Given the description of an element on the screen output the (x, y) to click on. 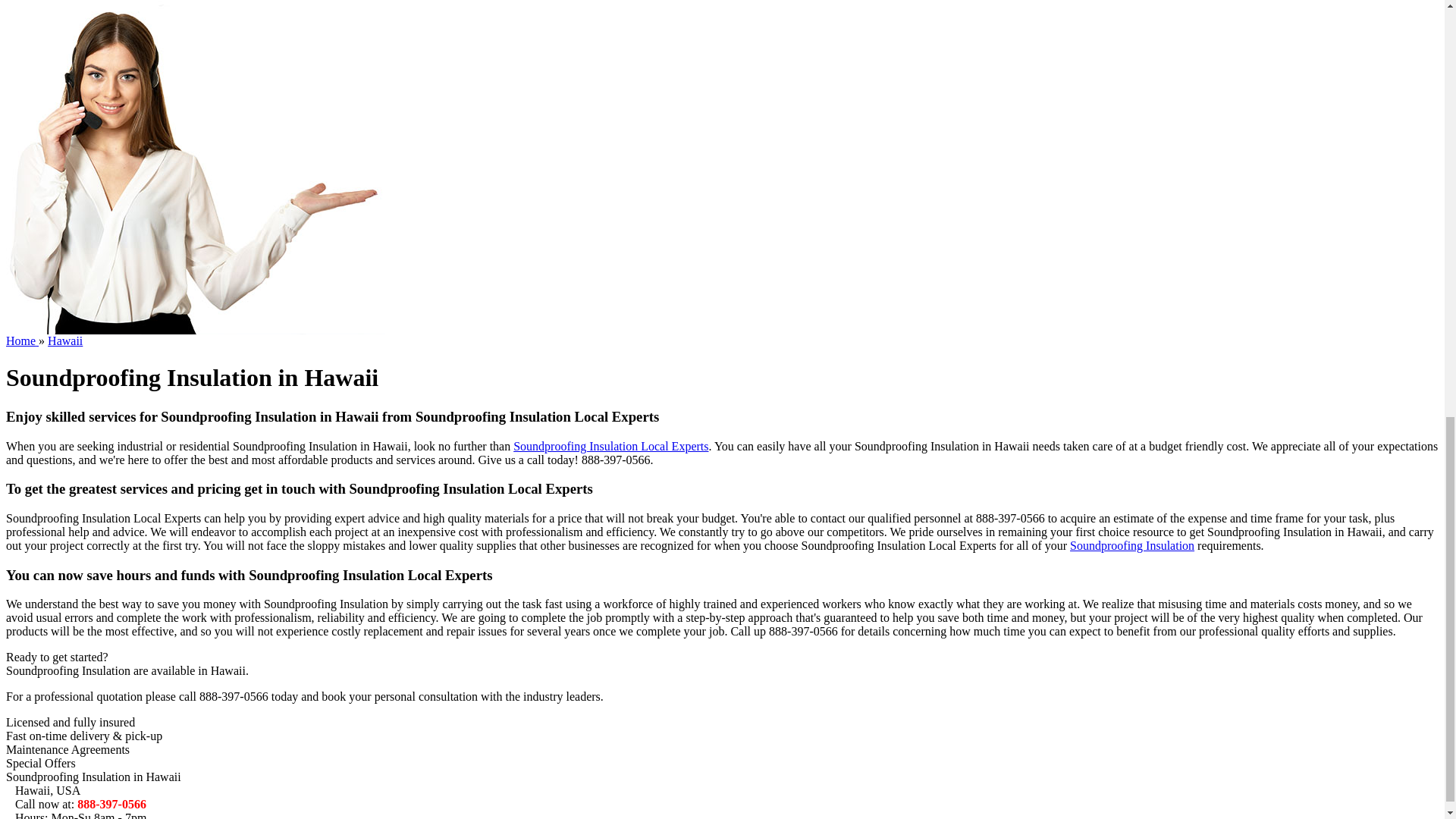
Soundproofing Insulation Local Experts (610, 445)
Soundproofing Insulation (1131, 545)
Home (22, 340)
Hawaii (65, 340)
